Given the description of an element on the screen output the (x, y) to click on. 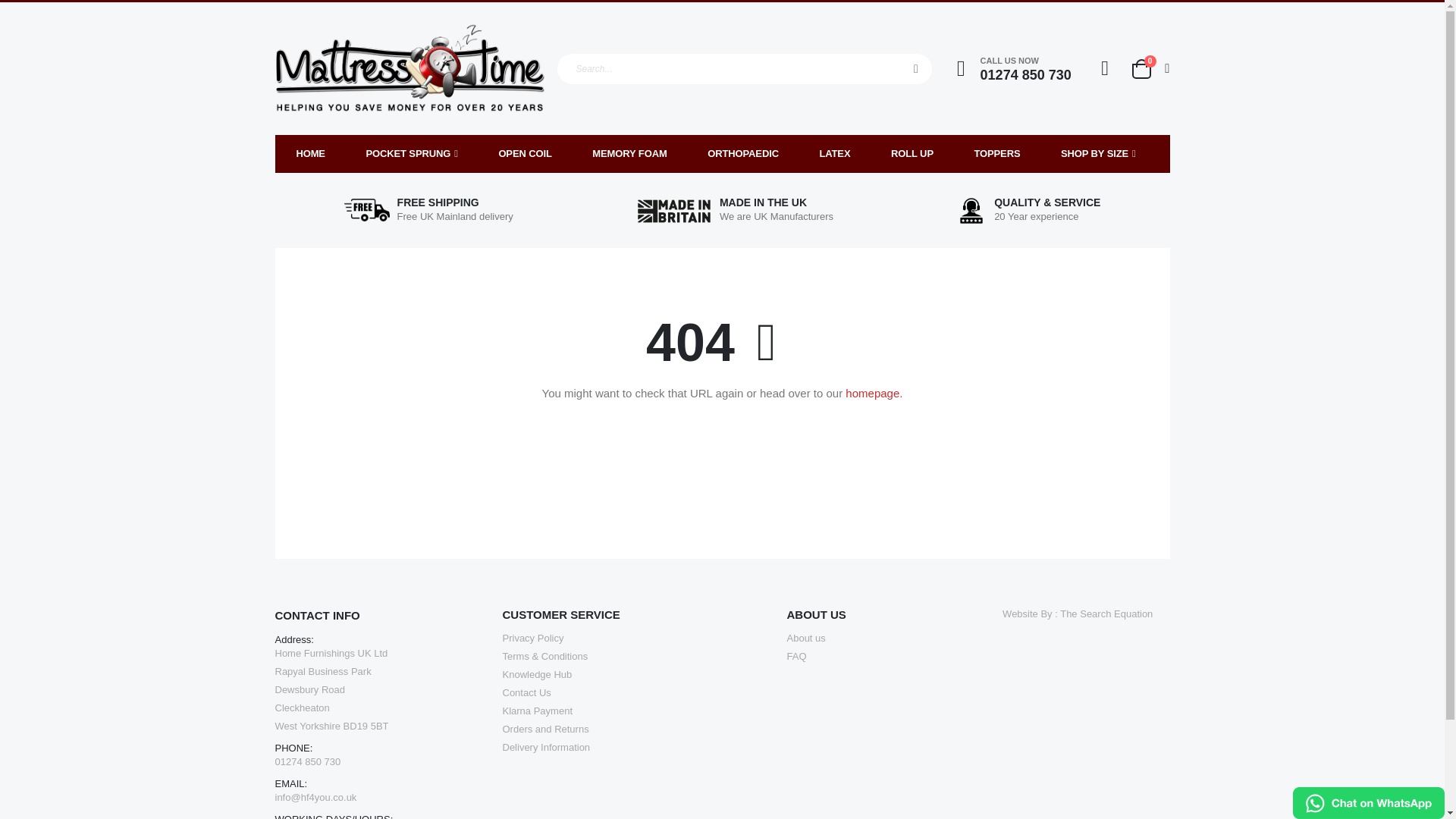
Roll Up (912, 153)
HOME (310, 153)
Latex (1149, 68)
ROLL UP (833, 153)
ORTHOPAEDIC (912, 153)
Mattresstime (743, 153)
Open Coil (409, 68)
OPEN COIL (524, 153)
Pocket Sprung (524, 153)
